Given the description of an element on the screen output the (x, y) to click on. 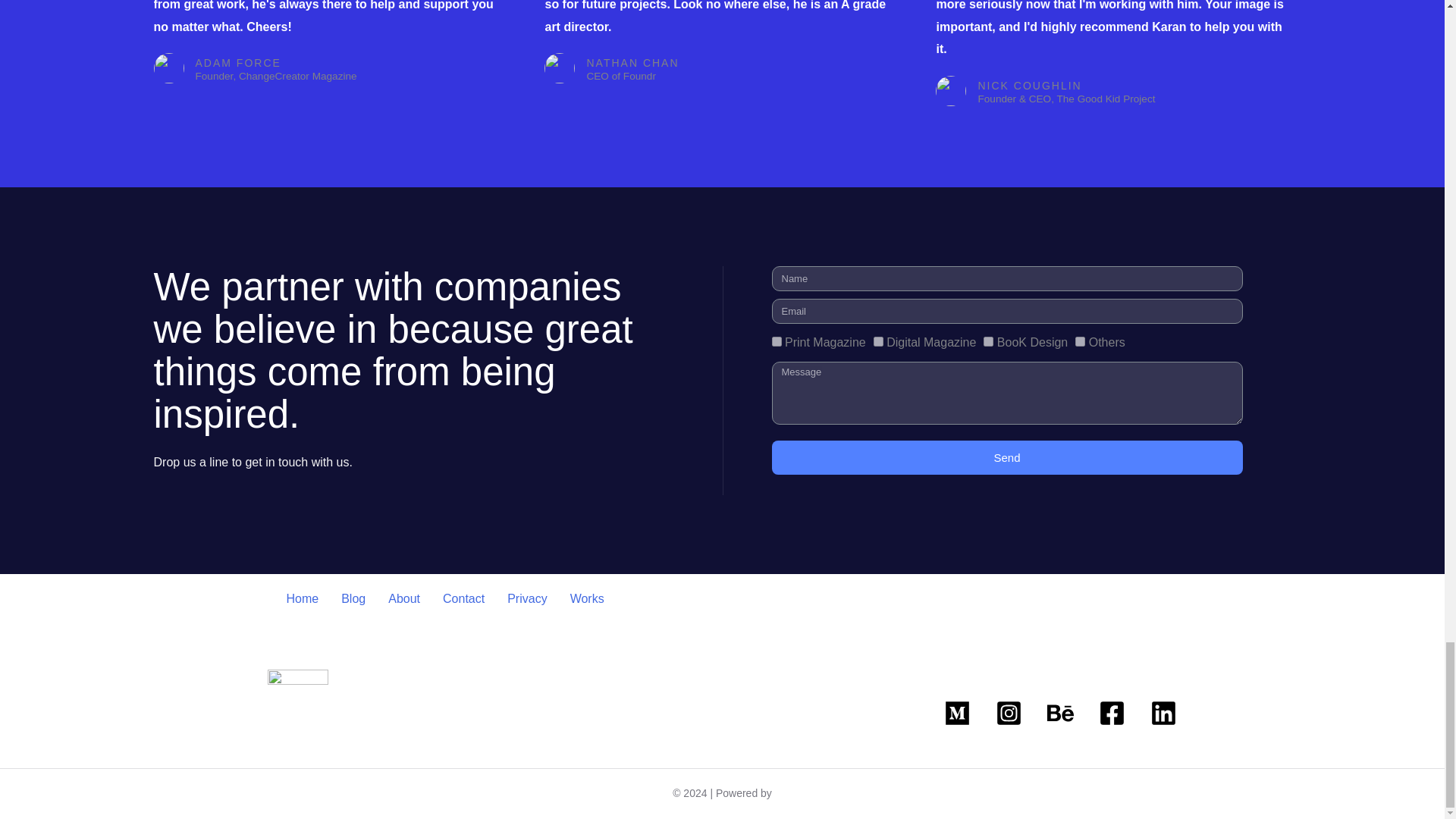
Print Magazine (776, 341)
Others (1079, 341)
Digital Magazine (878, 341)
BooK Design (988, 341)
